Given the description of an element on the screen output the (x, y) to click on. 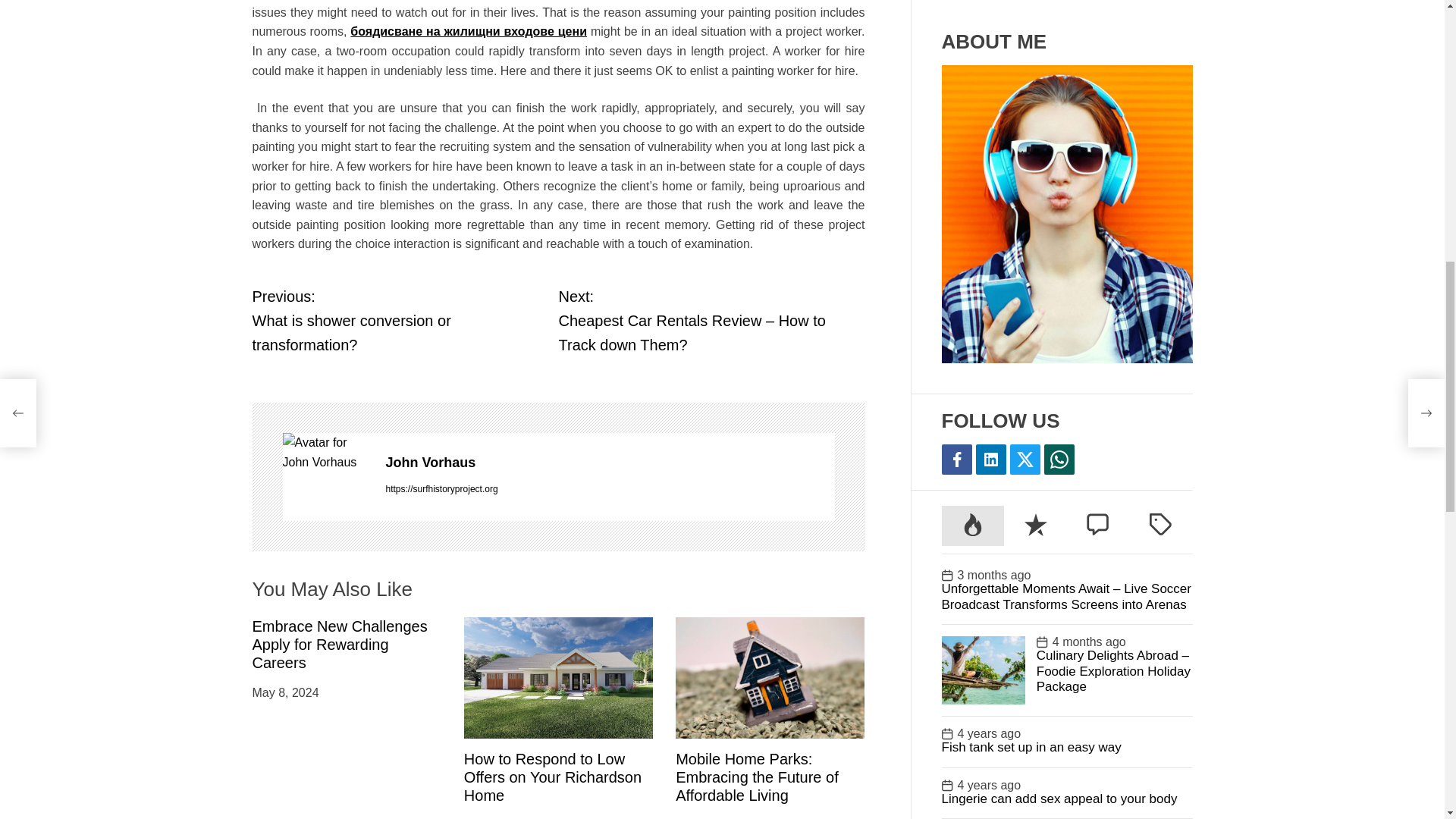
John Vorhaus (609, 463)
John Vorhaus (325, 452)
John Vorhaus (609, 463)
